Given the description of an element on the screen output the (x, y) to click on. 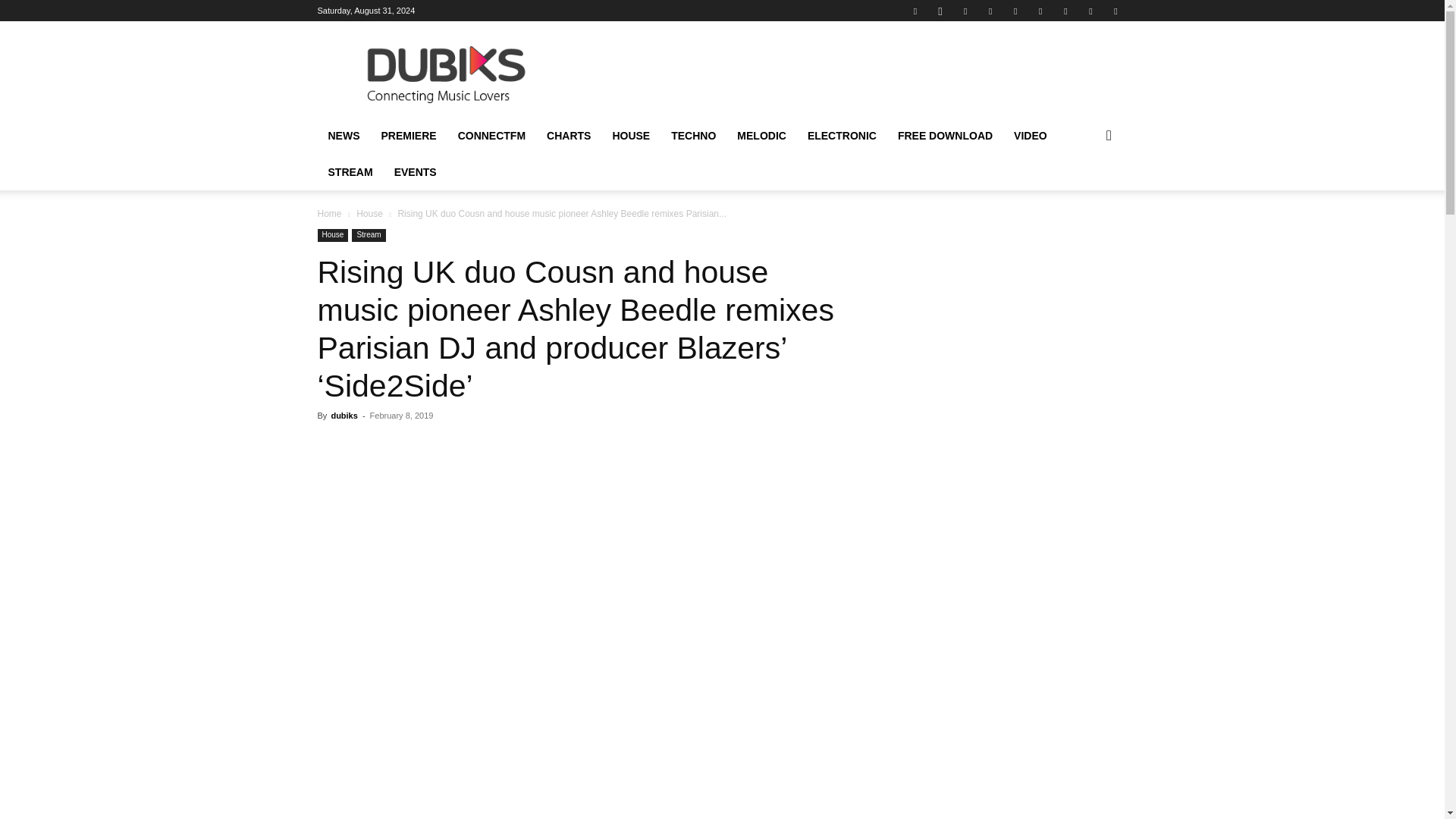
Instagram (940, 10)
Facebook (915, 10)
Mail (964, 10)
Paypal (989, 10)
